Given the description of an element on the screen output the (x, y) to click on. 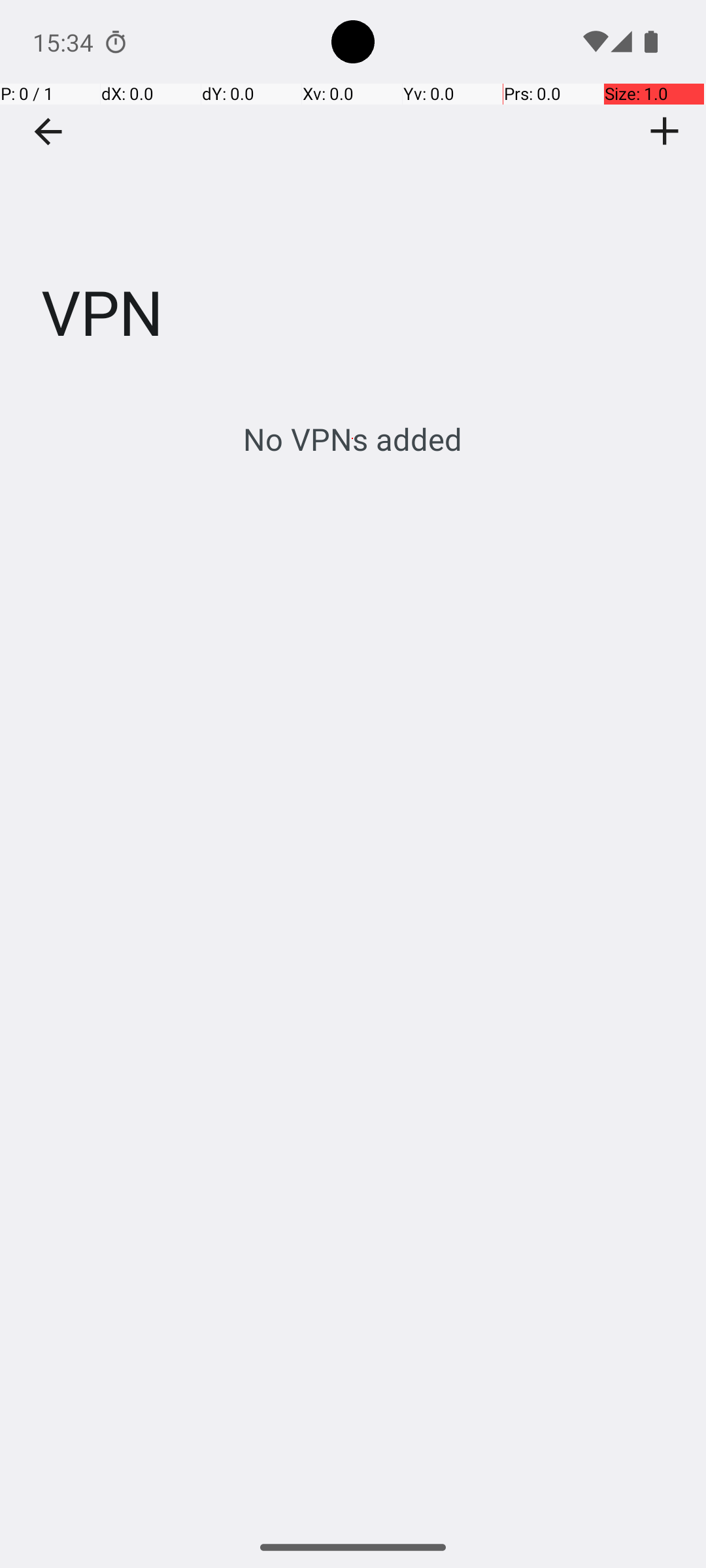
No VPNs added Element type: android.widget.TextView (352, 438)
Add VPN profile Element type: android.widget.TextView (664, 131)
